Given the description of an element on the screen output the (x, y) to click on. 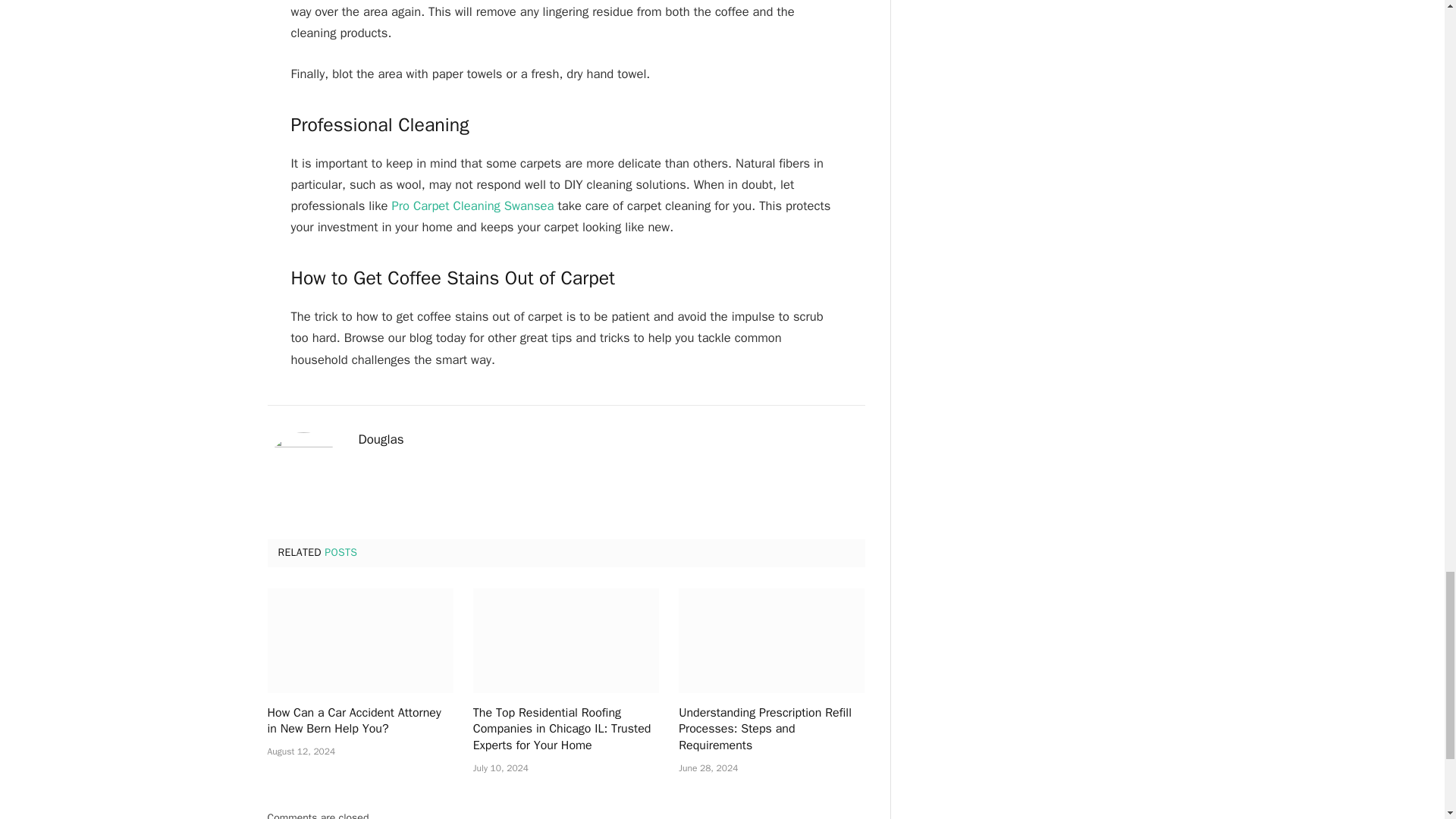
Pro Carpet Cleaning Swansea (472, 205)
How Can a Car Accident Attorney in New Bern Help You? (359, 640)
How Can a Car Accident Attorney in New Bern Help You? (359, 721)
Douglas (380, 439)
Posts by Douglas (380, 439)
